Given the description of an element on the screen output the (x, y) to click on. 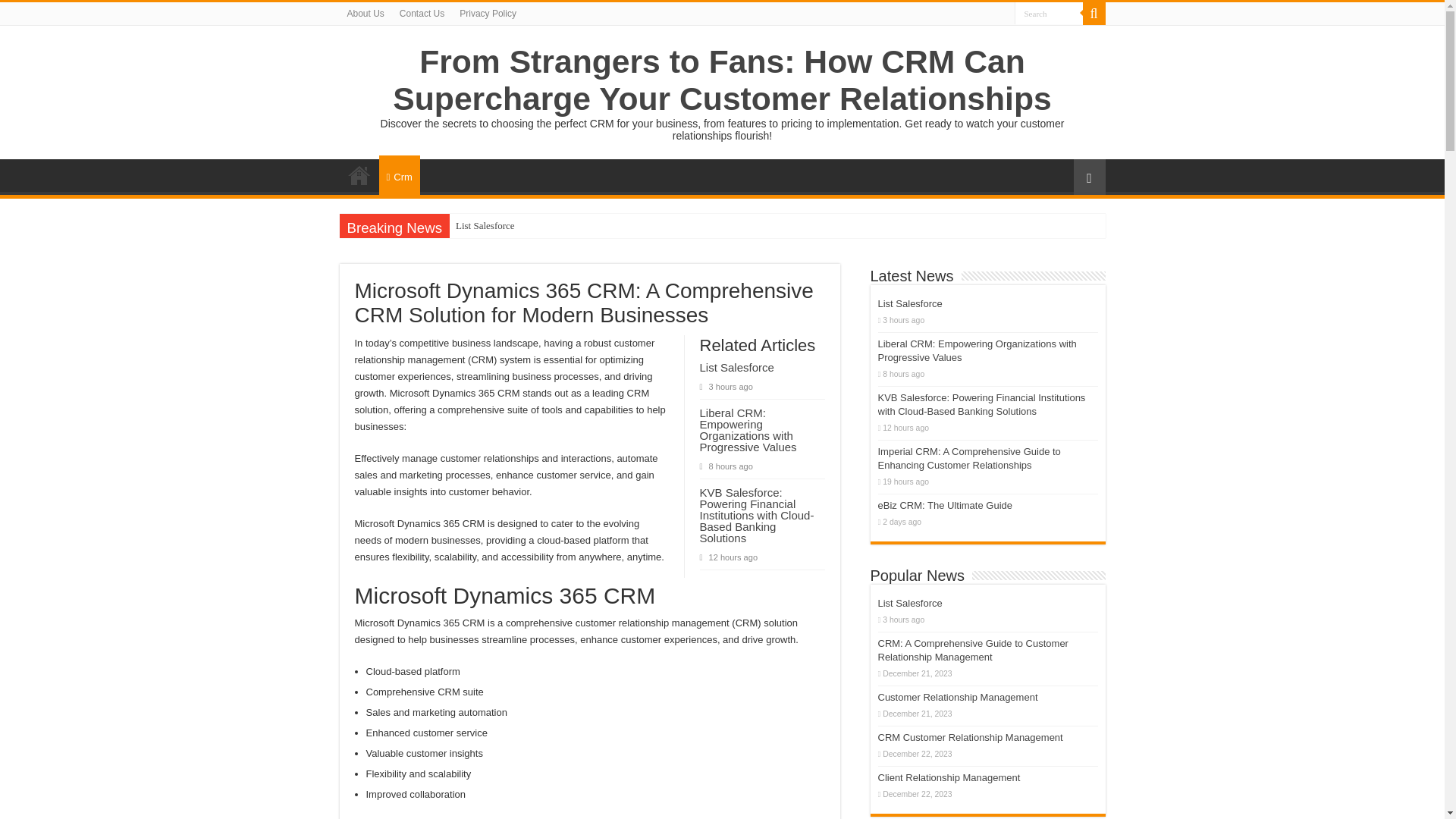
List Salesforce (909, 303)
eBiz CRM: The Ultimate Guide (945, 505)
CRM Customer Relationship Management (969, 737)
Search (1048, 13)
List Salesforce (485, 225)
Search (1048, 13)
Privacy Policy (487, 13)
Search (1094, 13)
